Given the description of an element on the screen output the (x, y) to click on. 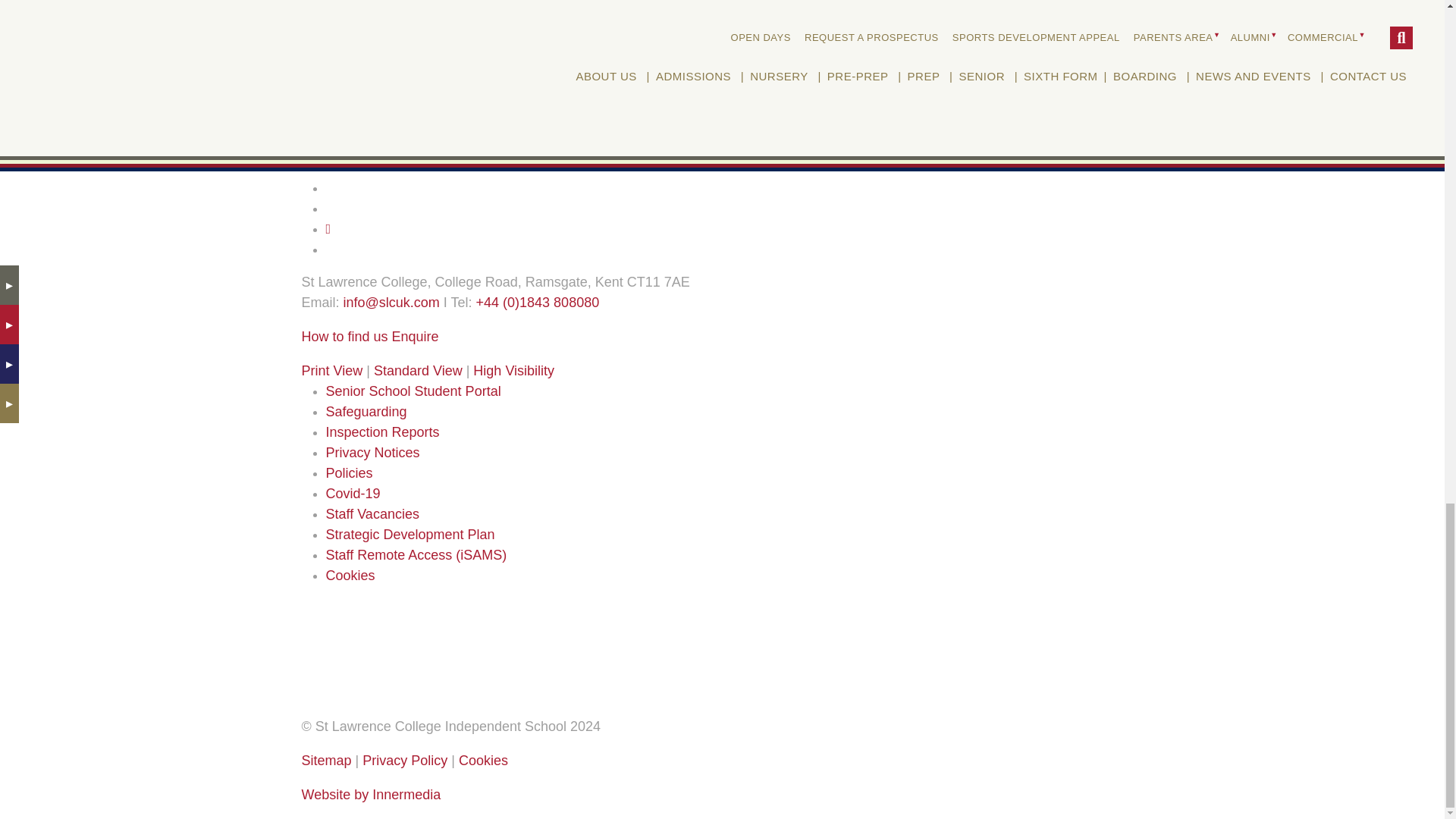
Switch to High Visibility (513, 370)
Enquiry Form (415, 336)
Switch to Print (331, 370)
Switch to Standard Visibility (418, 370)
Location (344, 336)
